Given the description of an element on the screen output the (x, y) to click on. 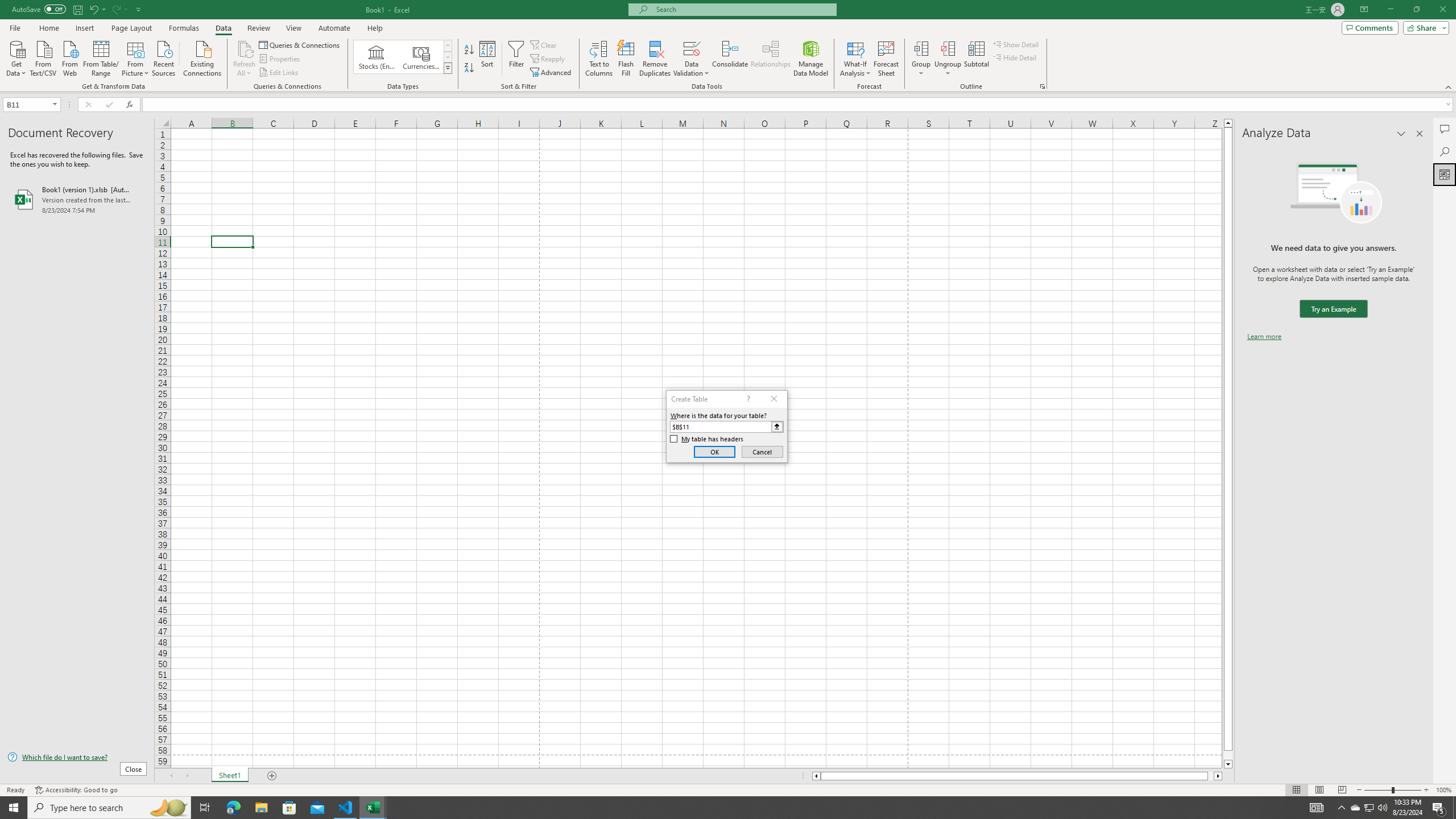
What-If Analysis (855, 58)
Text to Columns... (598, 58)
Show Detail (1016, 44)
Learn more (1264, 336)
